Given the description of an element on the screen output the (x, y) to click on. 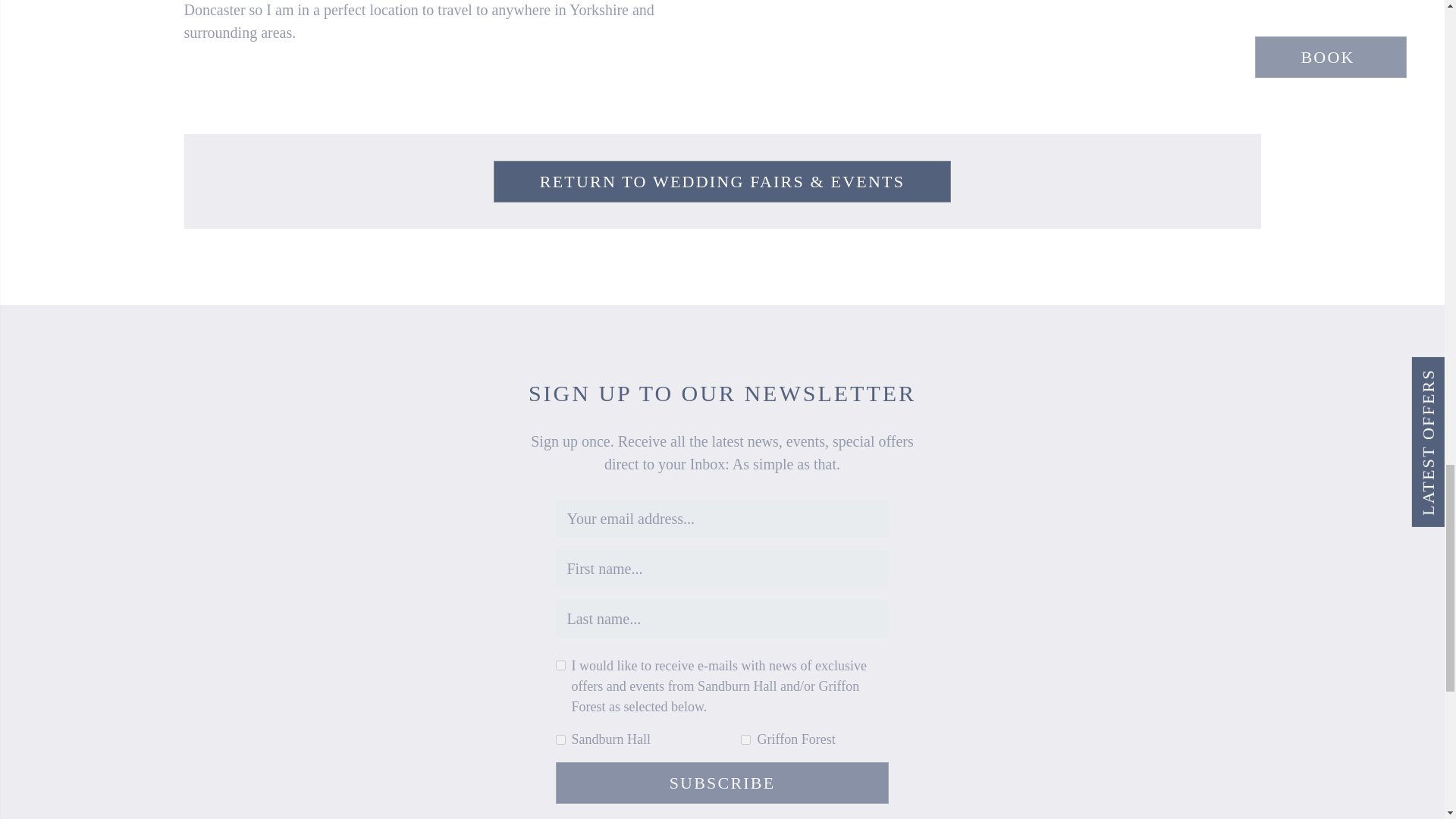
Subscribe (721, 782)
on (559, 665)
Subscribe (721, 782)
